Given the description of an element on the screen output the (x, y) to click on. 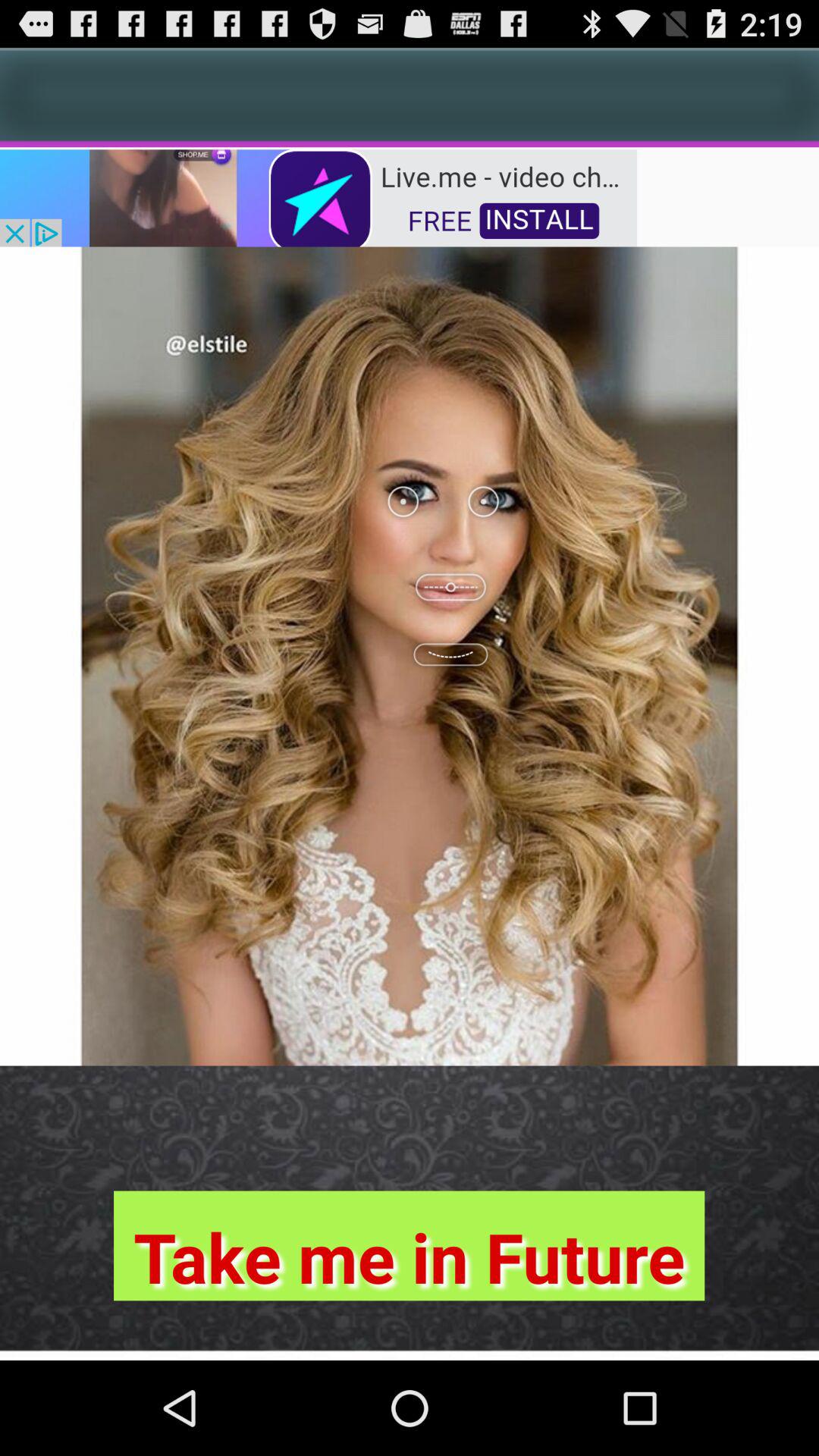
install live.me (318, 196)
